Given the description of an element on the screen output the (x, y) to click on. 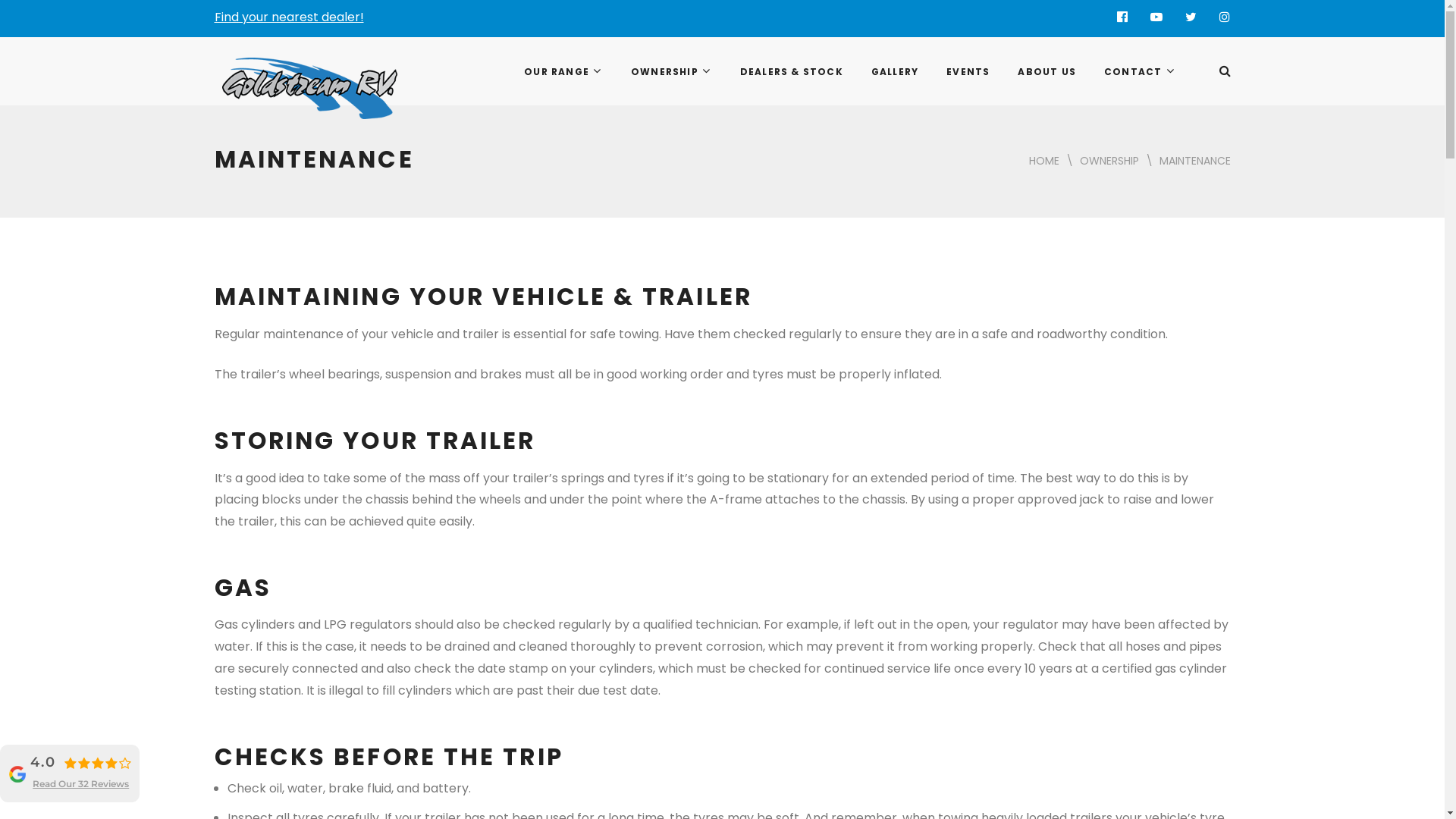
YouTube Element type: hover (1156, 17)
OWNERSHIP Element type: text (669, 71)
Find your nearest dealer! Element type: text (288, 16)
Goldstream RV Element type: hover (271, 77)
4.0 rating Element type: hover (96, 762)
ABOUT US Element type: text (1045, 71)
DEALERS & STOCK Element type: text (790, 71)
Twitter Element type: hover (1190, 17)
Read Our 32 Reviews Element type: text (80, 783)
HOME Element type: text (1043, 160)
Search Element type: text (1205, 117)
EVENTS Element type: text (966, 71)
OUR RANGE Element type: text (561, 71)
CONTACT Element type: text (1138, 71)
OWNERSHIP Element type: text (1109, 160)
GALLERY Element type: text (893, 71)
Facebook Element type: hover (1122, 17)
Instagram Element type: hover (1224, 17)
